Given the description of an element on the screen output the (x, y) to click on. 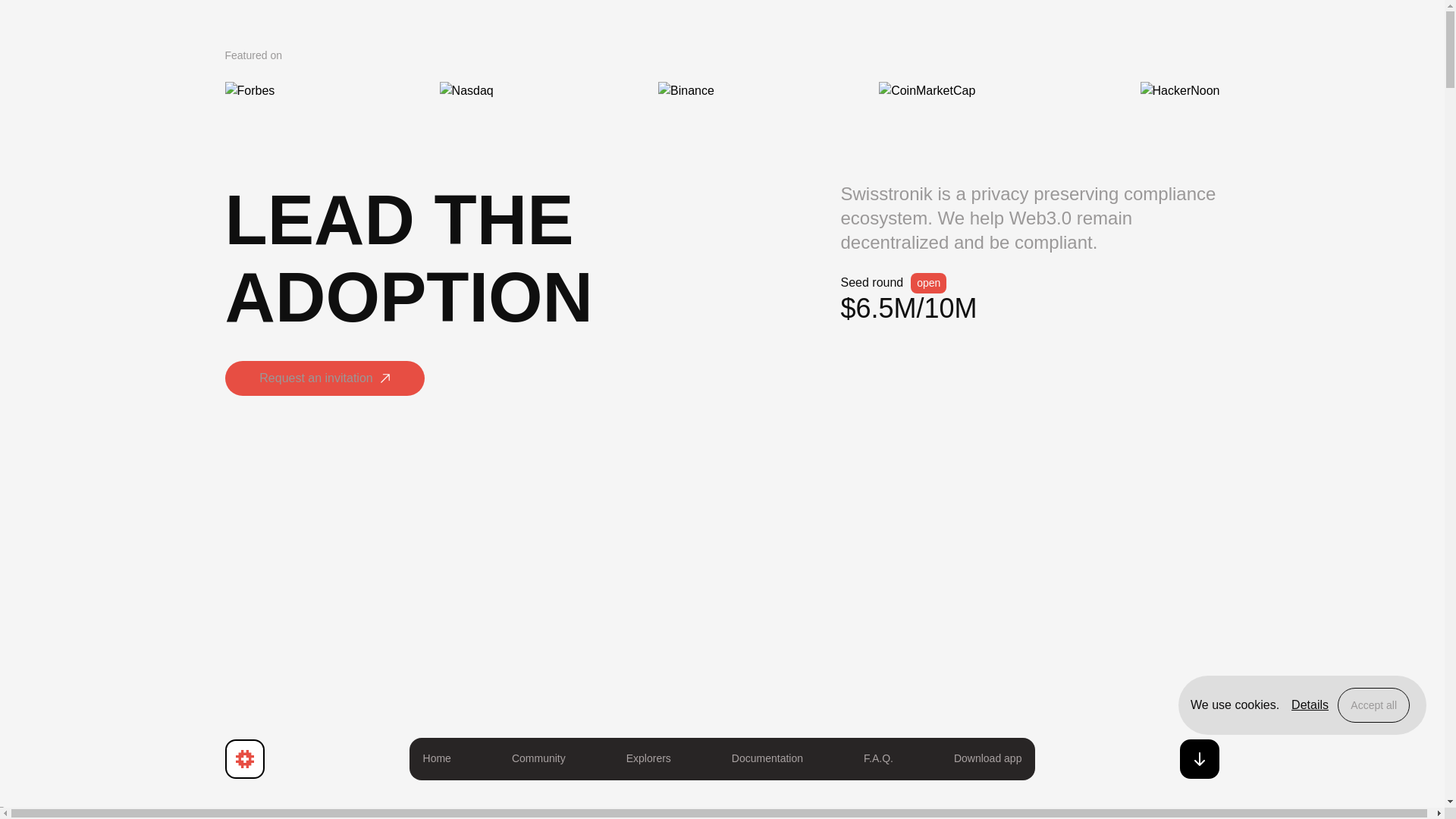
Request an invitation (323, 380)
